Given the description of an element on the screen output the (x, y) to click on. 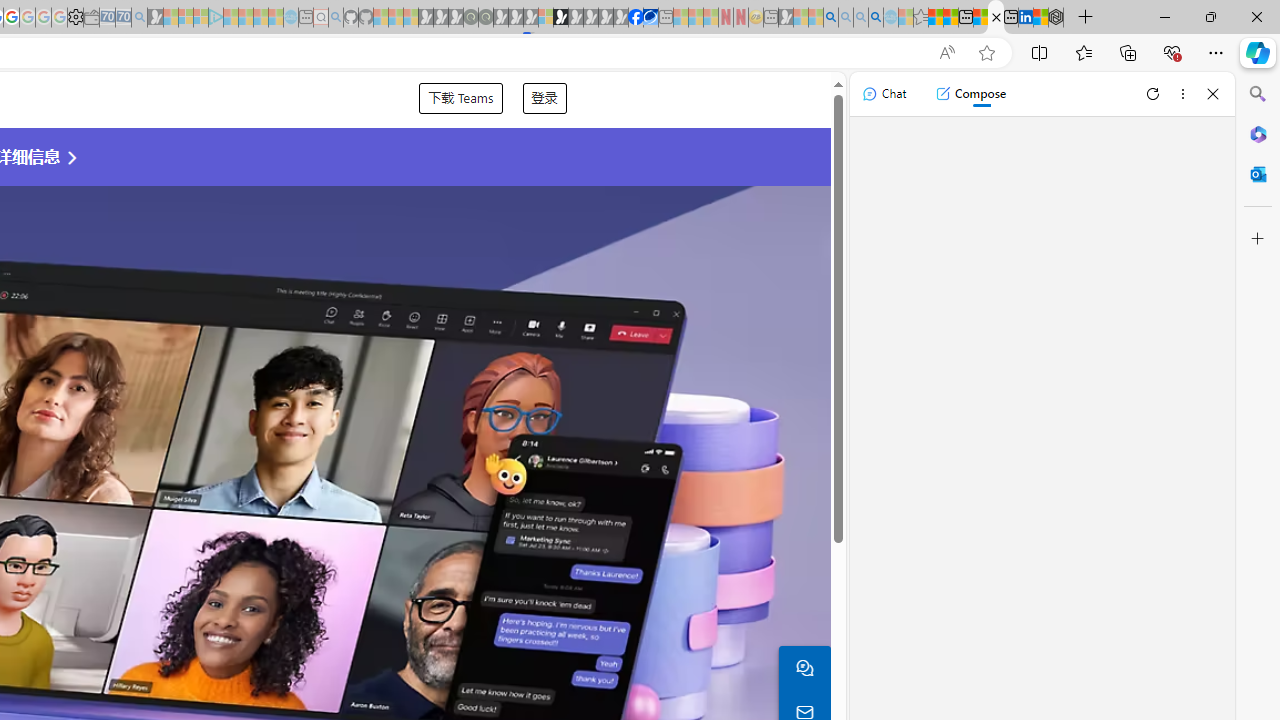
Wallet - Sleeping (91, 17)
Nordace | Facebook (635, 17)
